Given the description of an element on the screen output the (x, y) to click on. 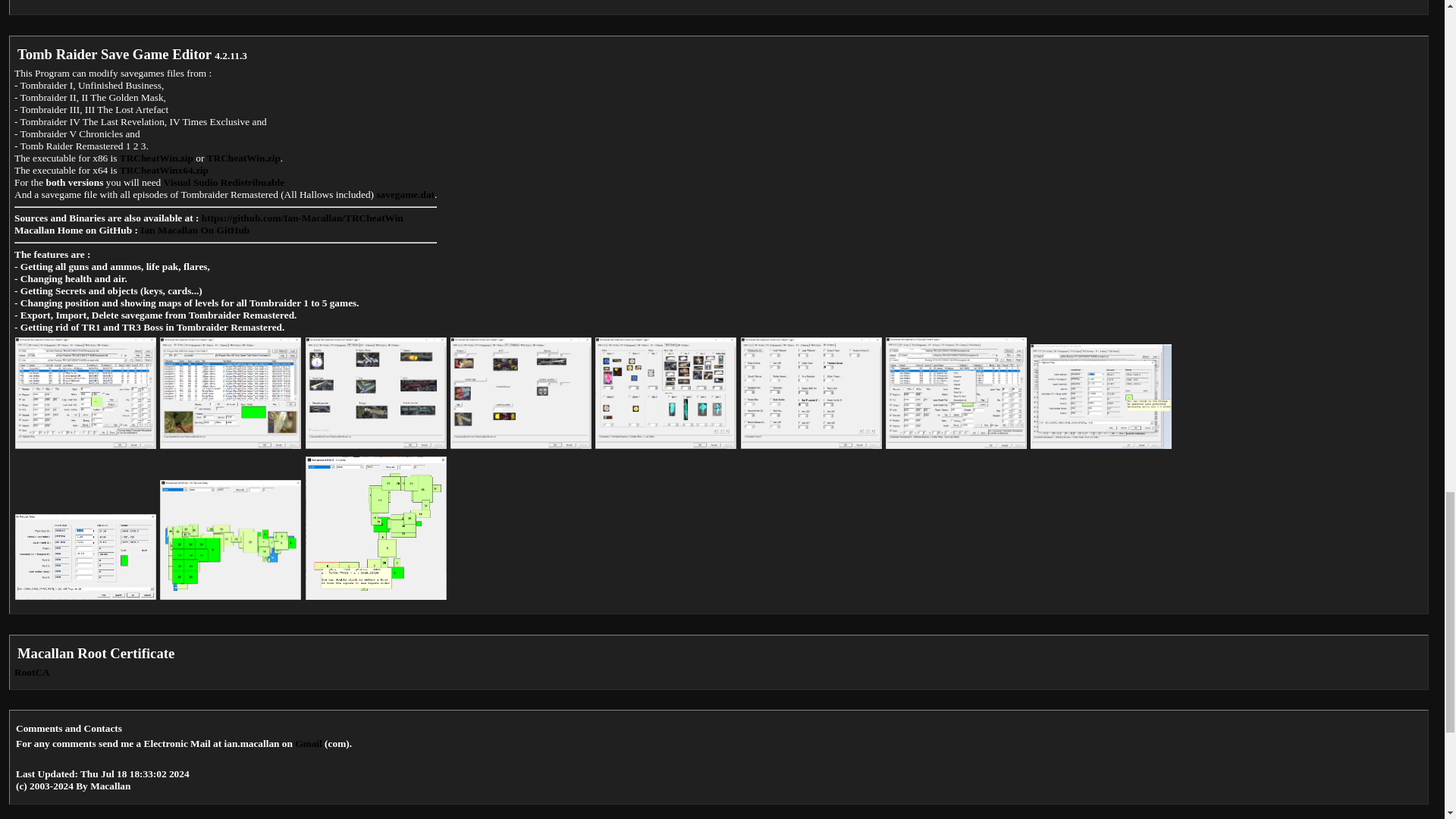
TRCheatWin.zip (243, 157)
savegame.dat (404, 194)
Visual Sudio Redistribuable (224, 182)
TRCheatWin.zip (156, 157)
TRCheatWinx64.zip (163, 170)
